Given the description of an element on the screen output the (x, y) to click on. 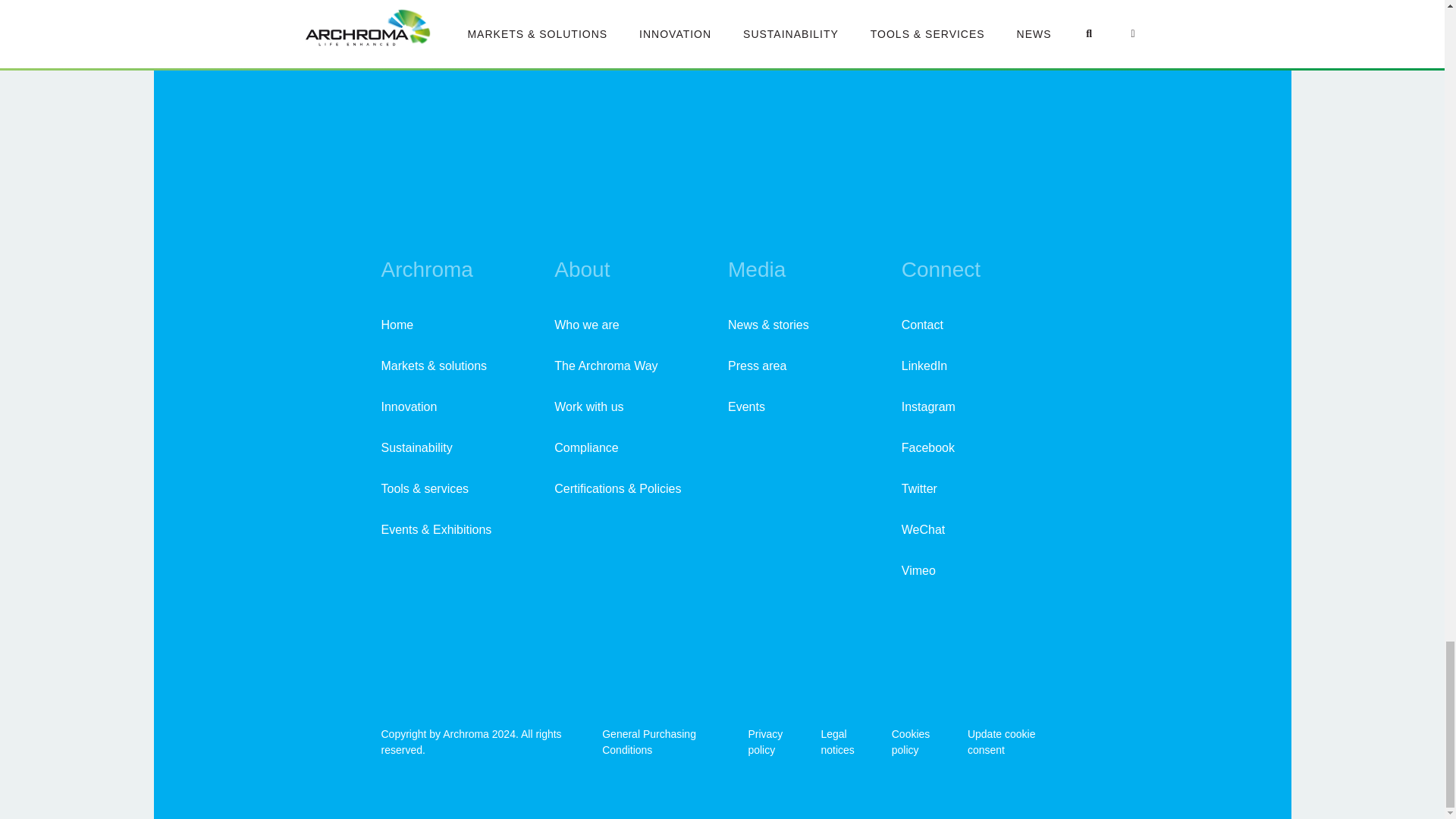
Innovation (408, 406)
Compliance (585, 447)
Home (396, 324)
The Archroma Way (606, 365)
Work with us (588, 406)
Sustainability (415, 447)
Who we are (586, 324)
